Given the description of an element on the screen output the (x, y) to click on. 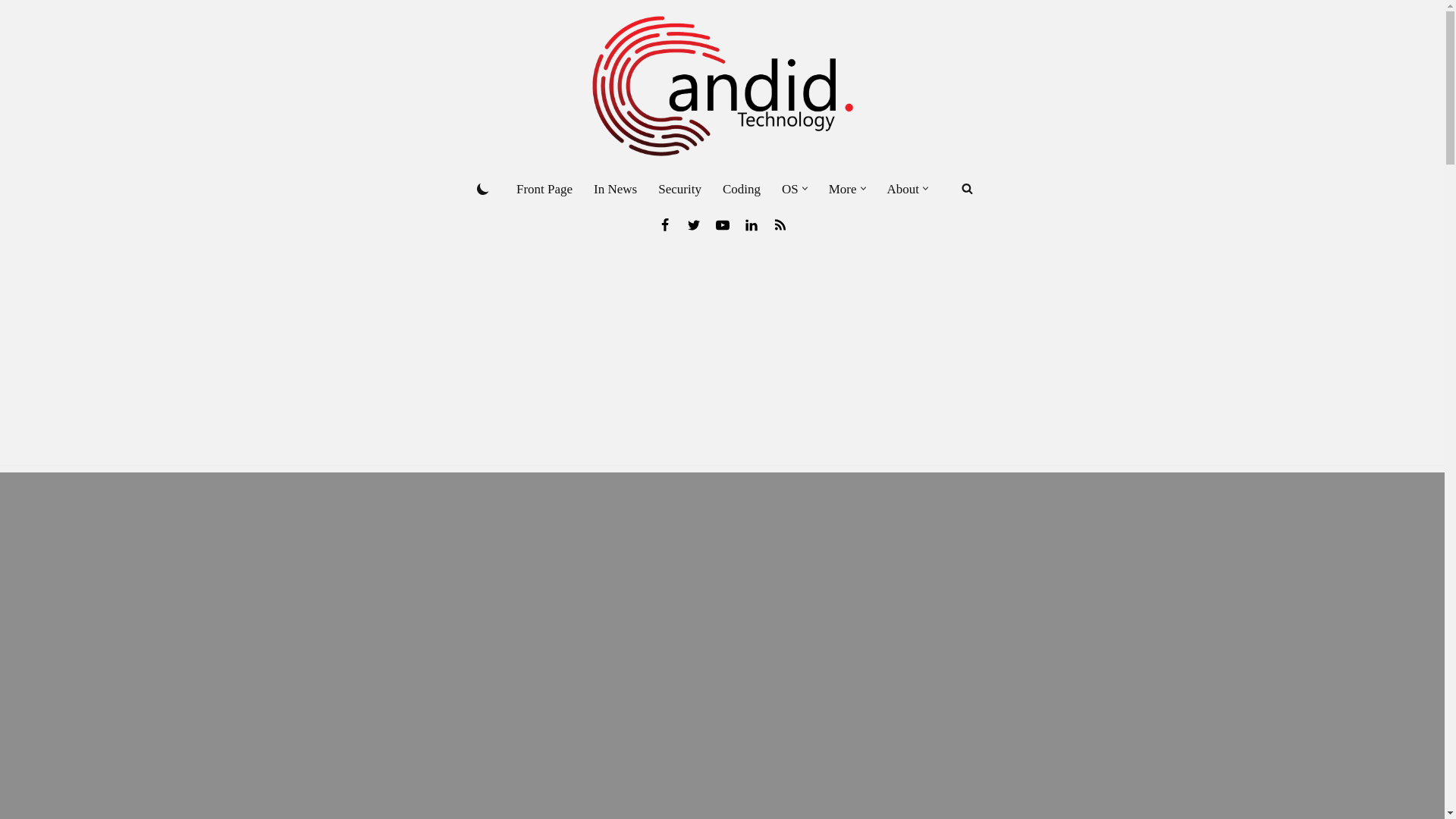
About (903, 188)
Twitter (692, 224)
Youtube (721, 224)
Security (679, 188)
Coding (741, 188)
Front Page (544, 188)
Facebook (664, 224)
Linkedin (750, 224)
In News (615, 188)
News (779, 224)
